Given the description of an element on the screen output the (x, y) to click on. 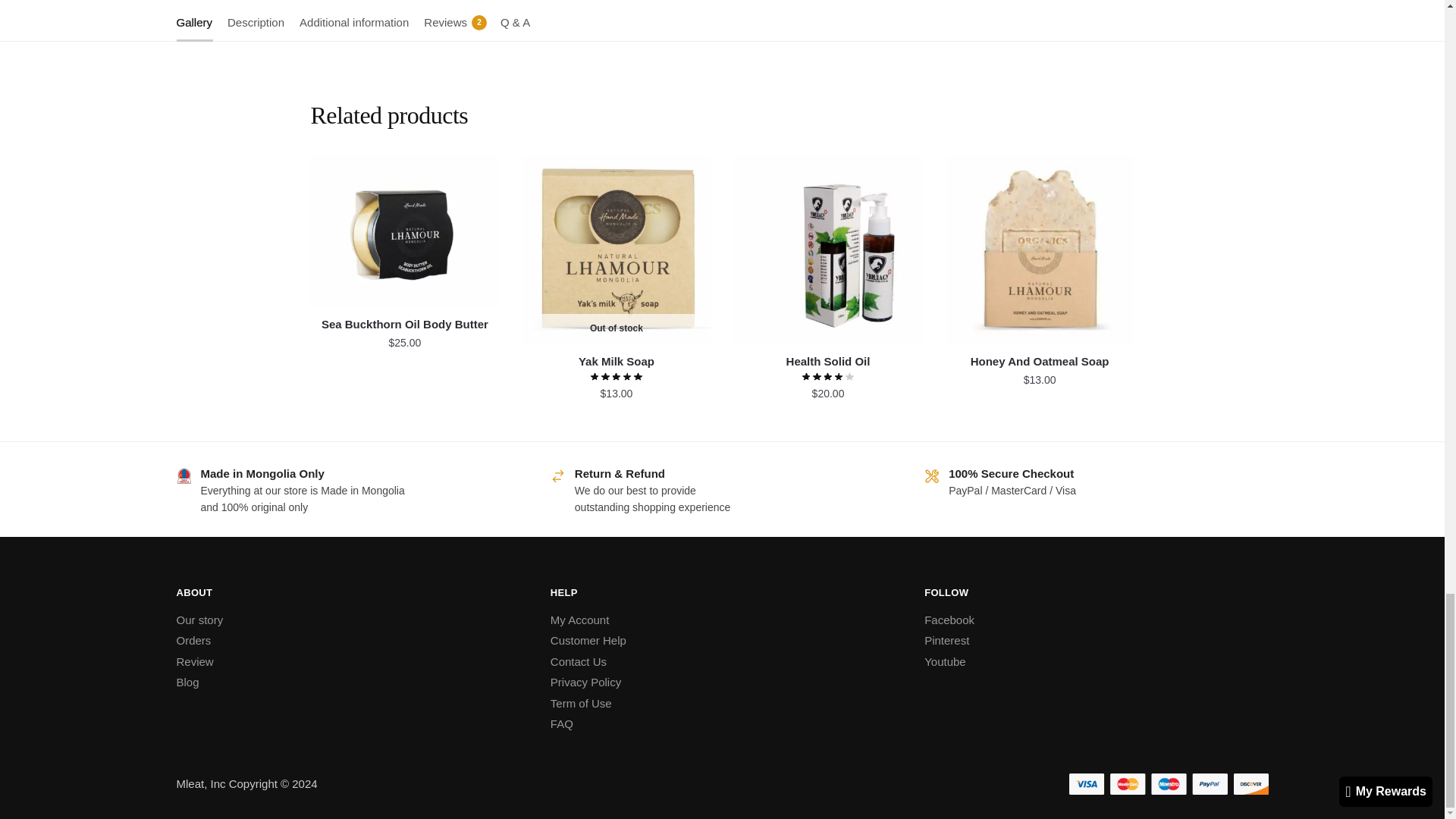
Health Solid Oil (828, 248)
Yak Milk Soap (615, 248)
Sea Buckthorn Oil Body Butter (404, 230)
